Given the description of an element on the screen output the (x, y) to click on. 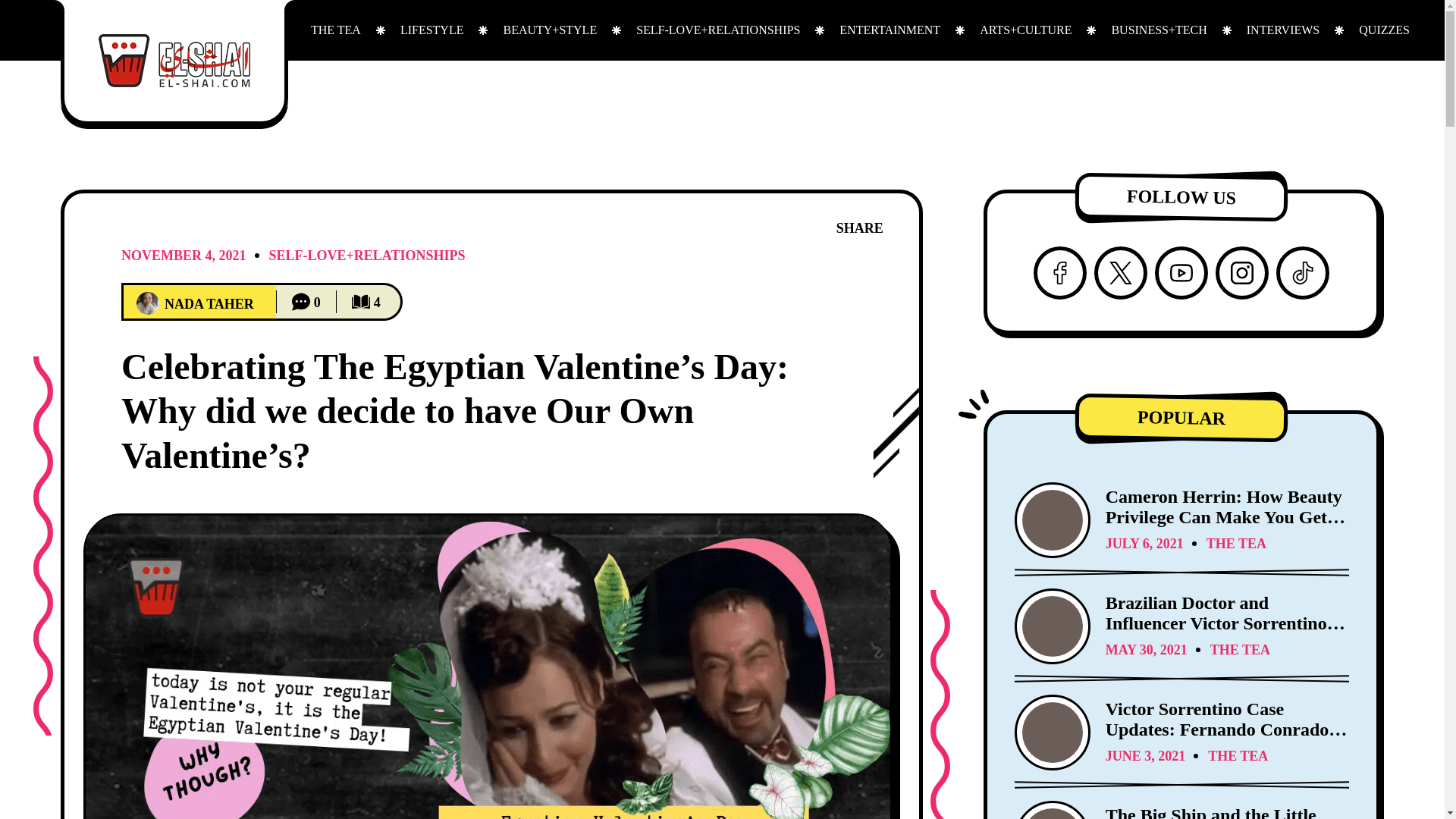
ENTERTAINMENT (889, 30)
INTERVIEWS (1283, 30)
THE TEA (335, 30)
LIFESTYLE (431, 30)
QUIZZES (1384, 30)
